Given the description of an element on the screen output the (x, y) to click on. 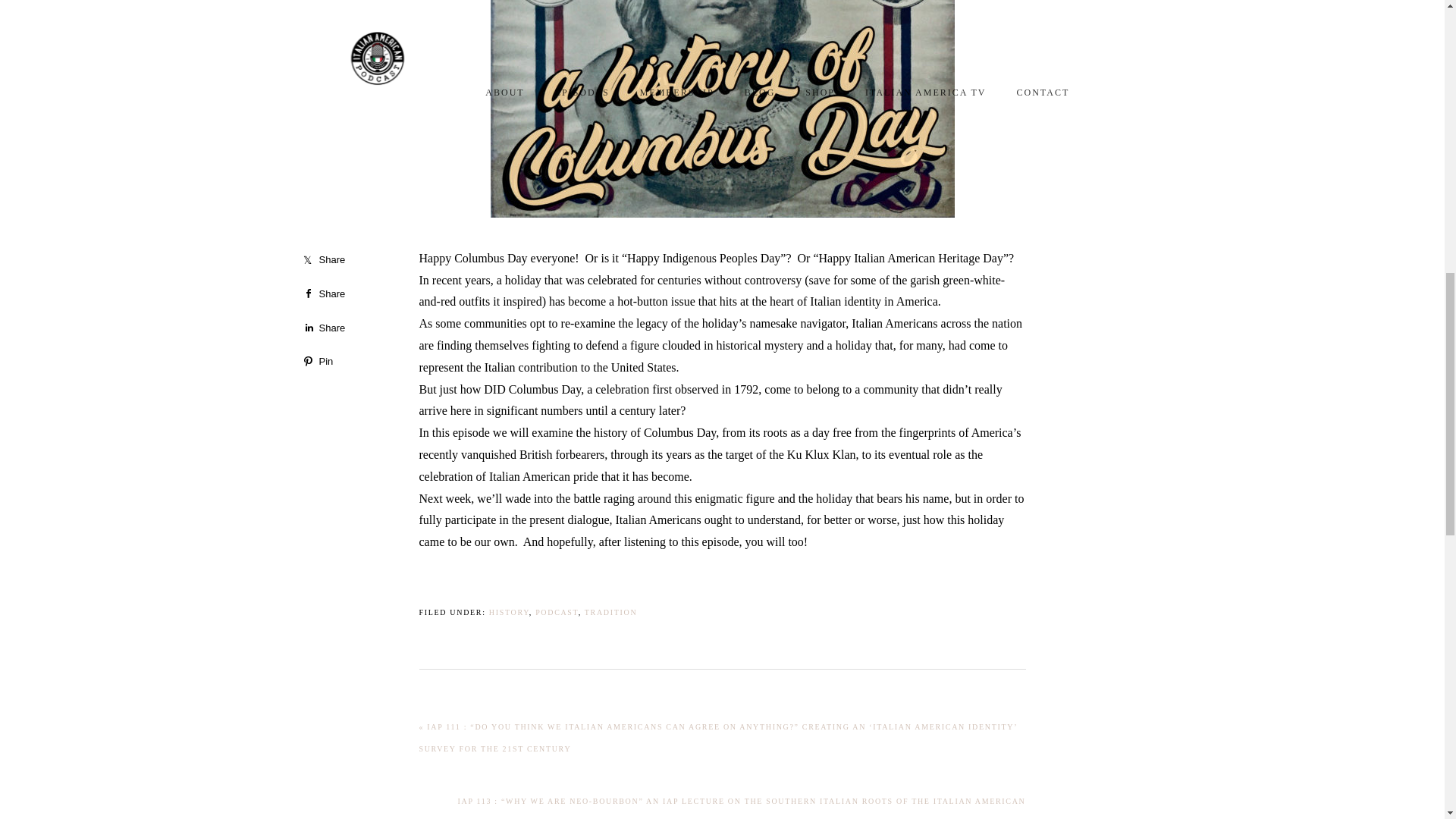
TRADITION (611, 612)
PODCAST (556, 612)
HISTORY (509, 612)
